Given the description of an element on the screen output the (x, y) to click on. 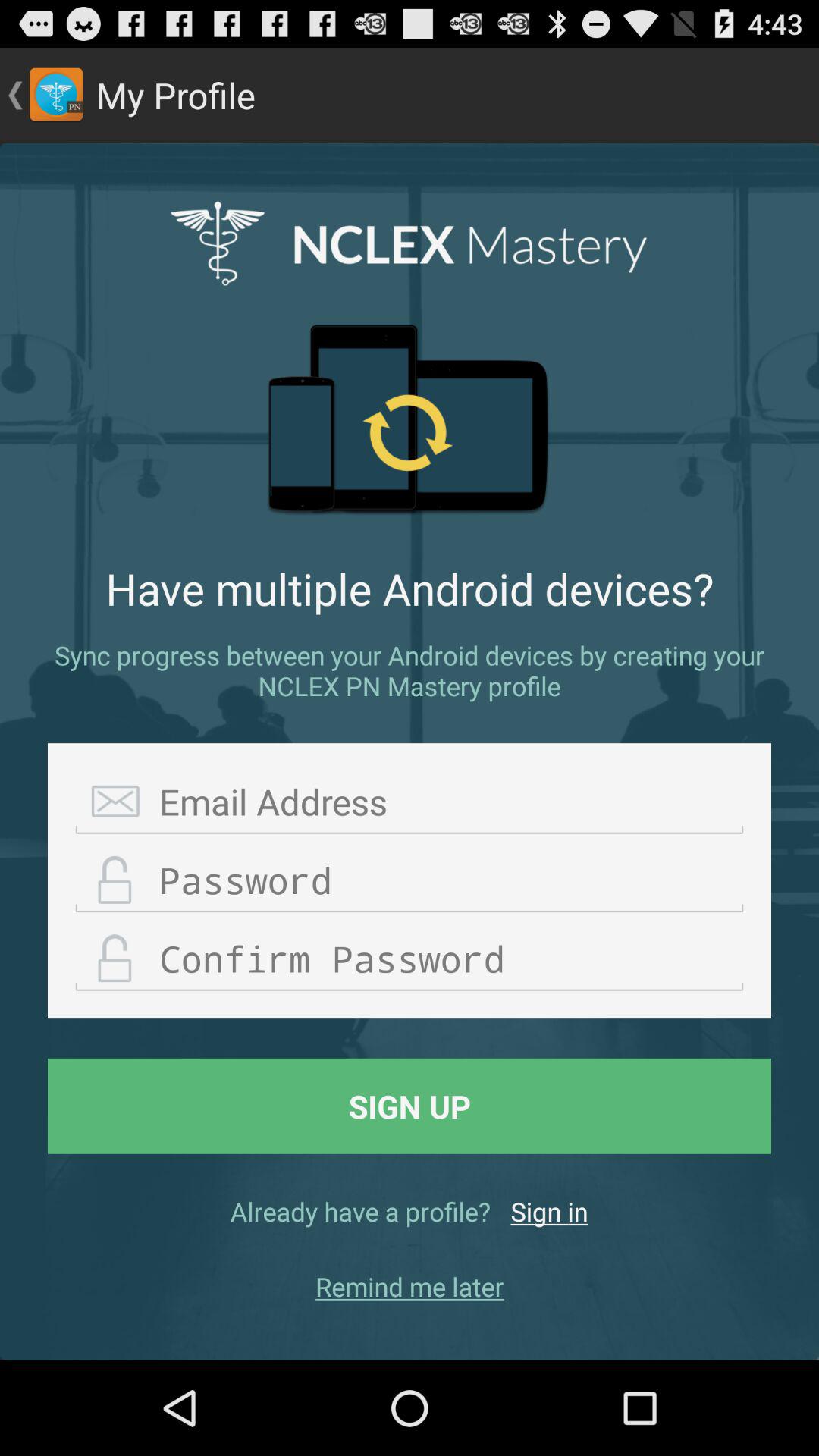
enter email address (409, 802)
